Given the description of an element on the screen output the (x, y) to click on. 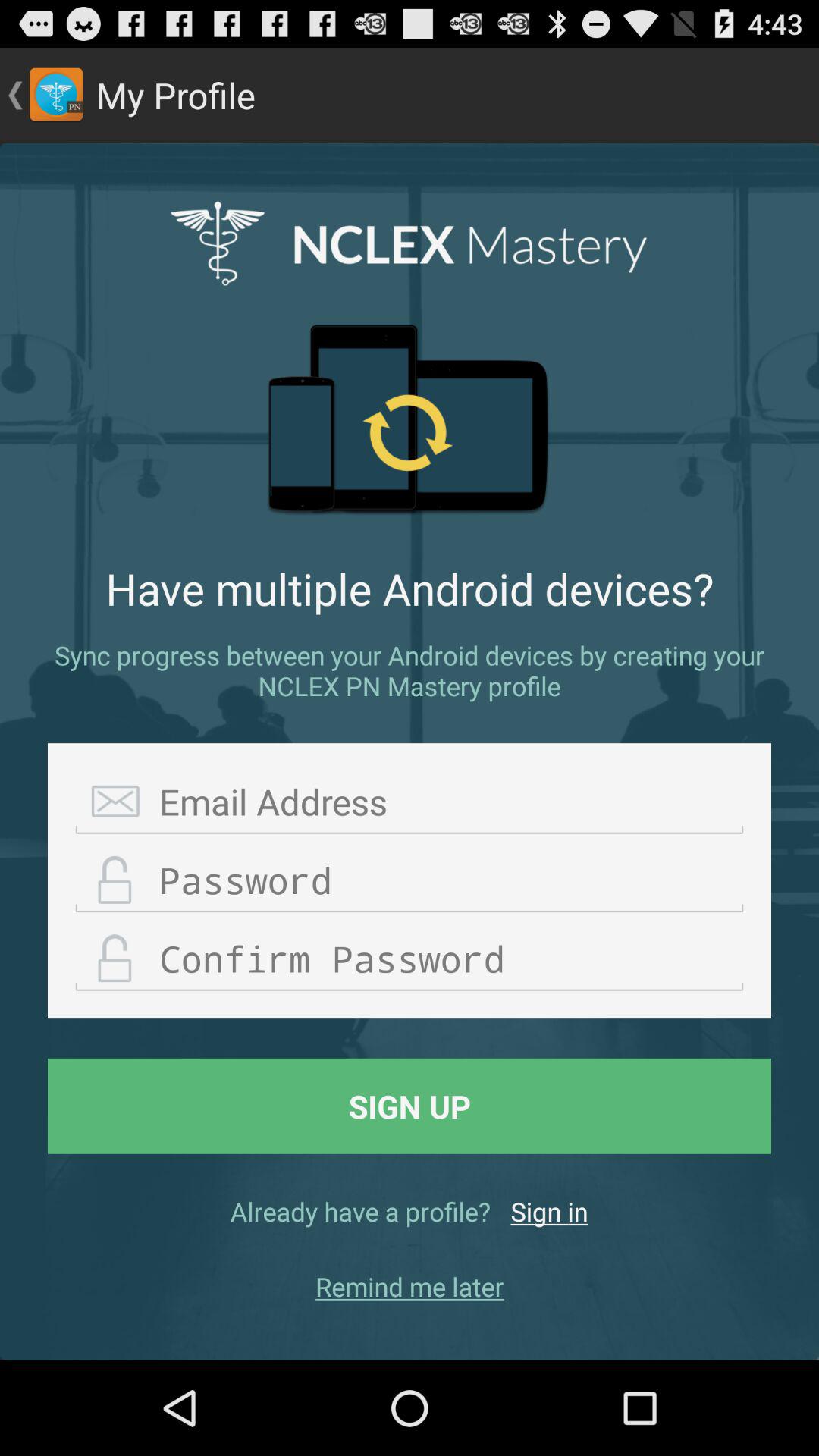
enter email address (409, 802)
